Given the description of an element on the screen output the (x, y) to click on. 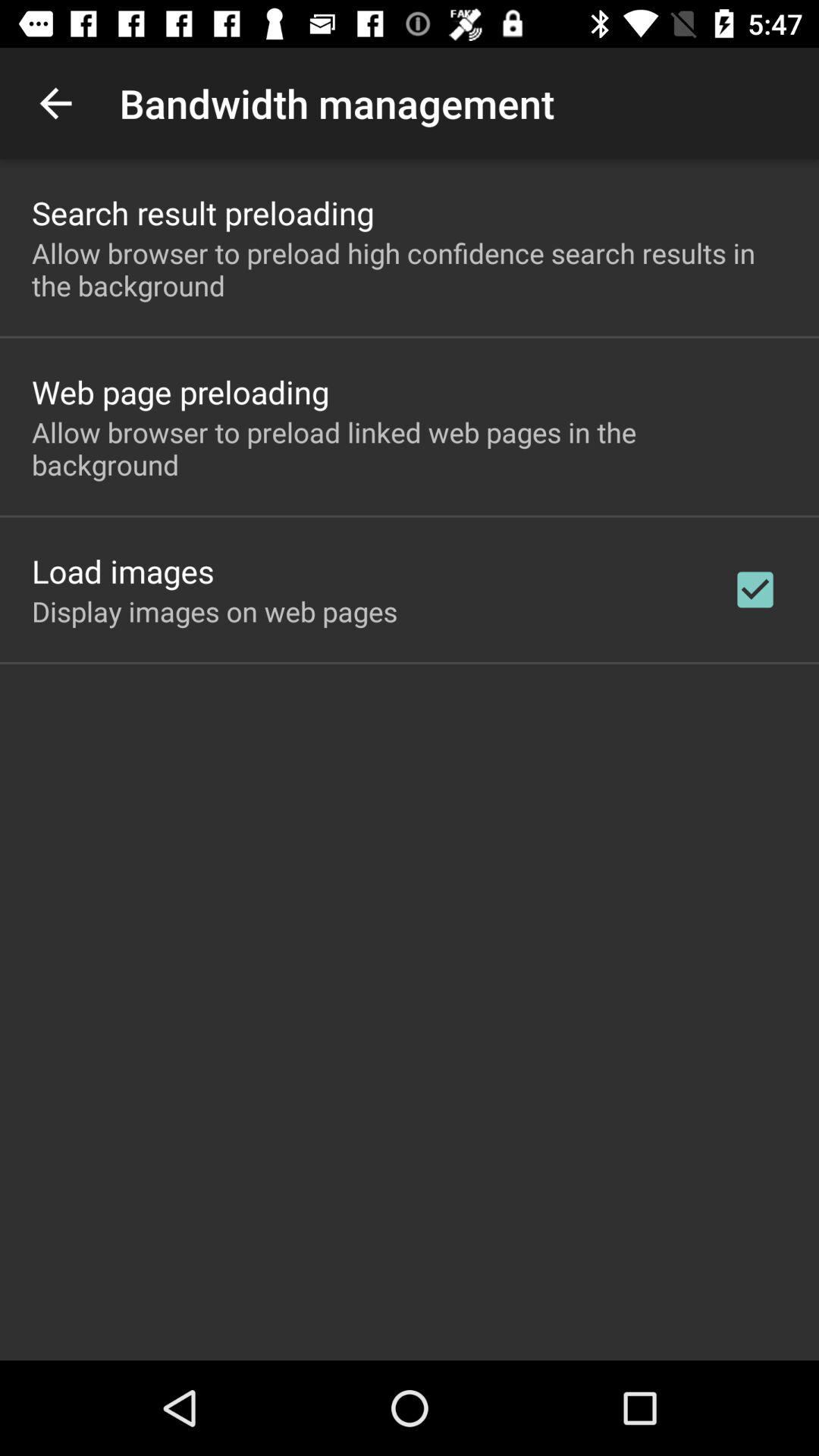
open icon above display images on app (122, 570)
